Given the description of an element on the screen output the (x, y) to click on. 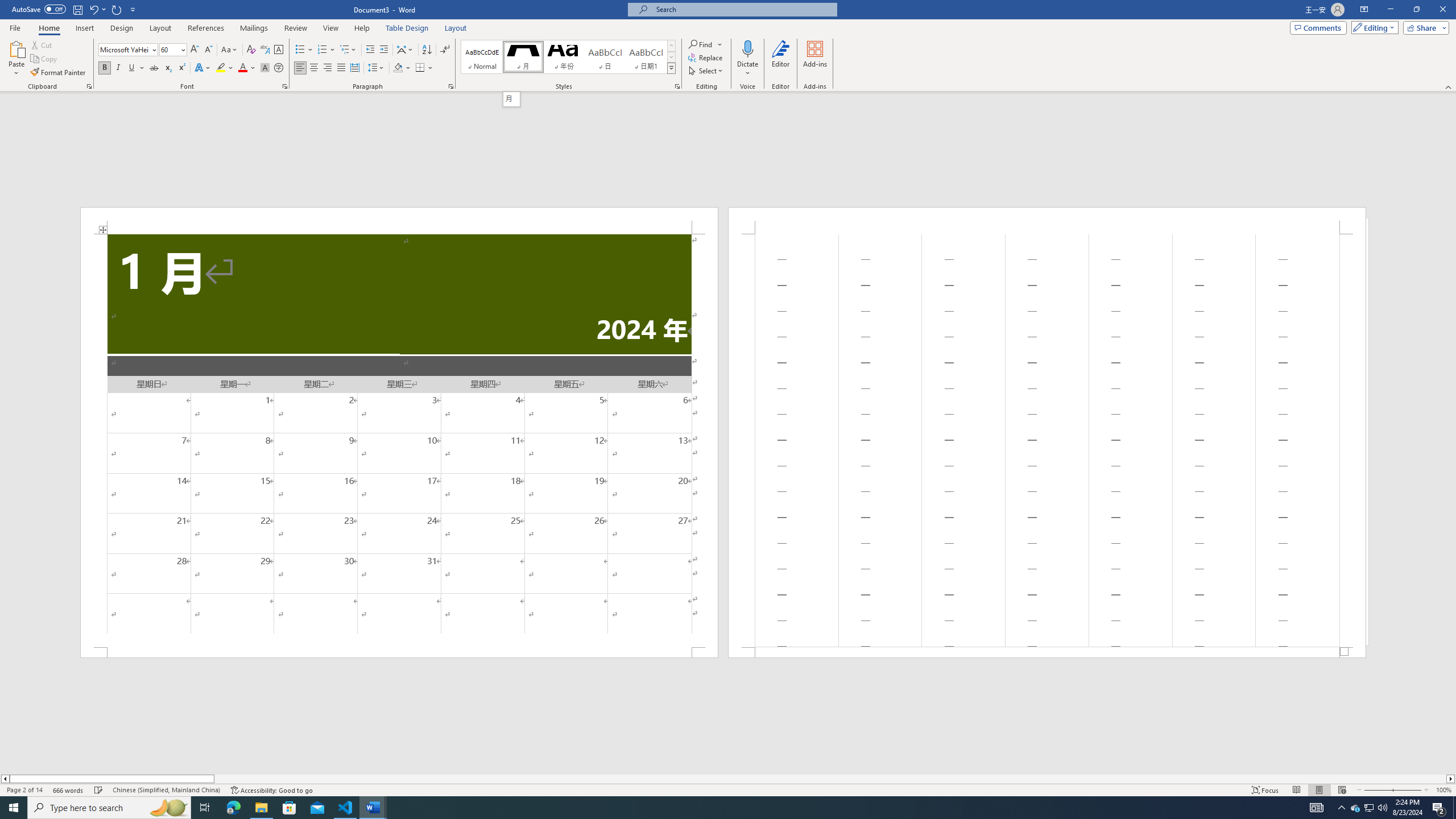
Column right (1450, 778)
